Given the description of an element on the screen output the (x, y) to click on. 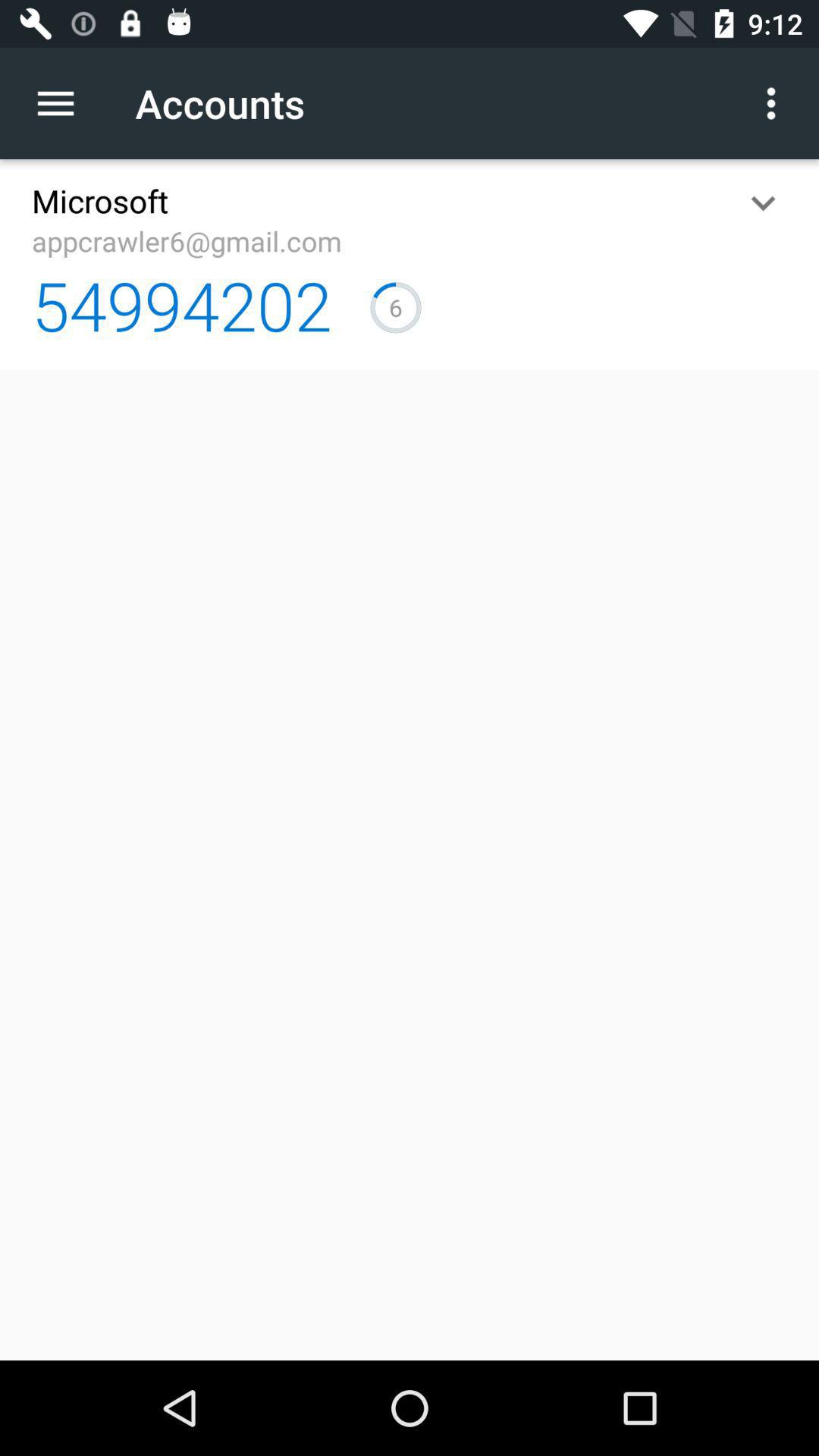
click app next to the accounts (63, 103)
